Given the description of an element on the screen output the (x, y) to click on. 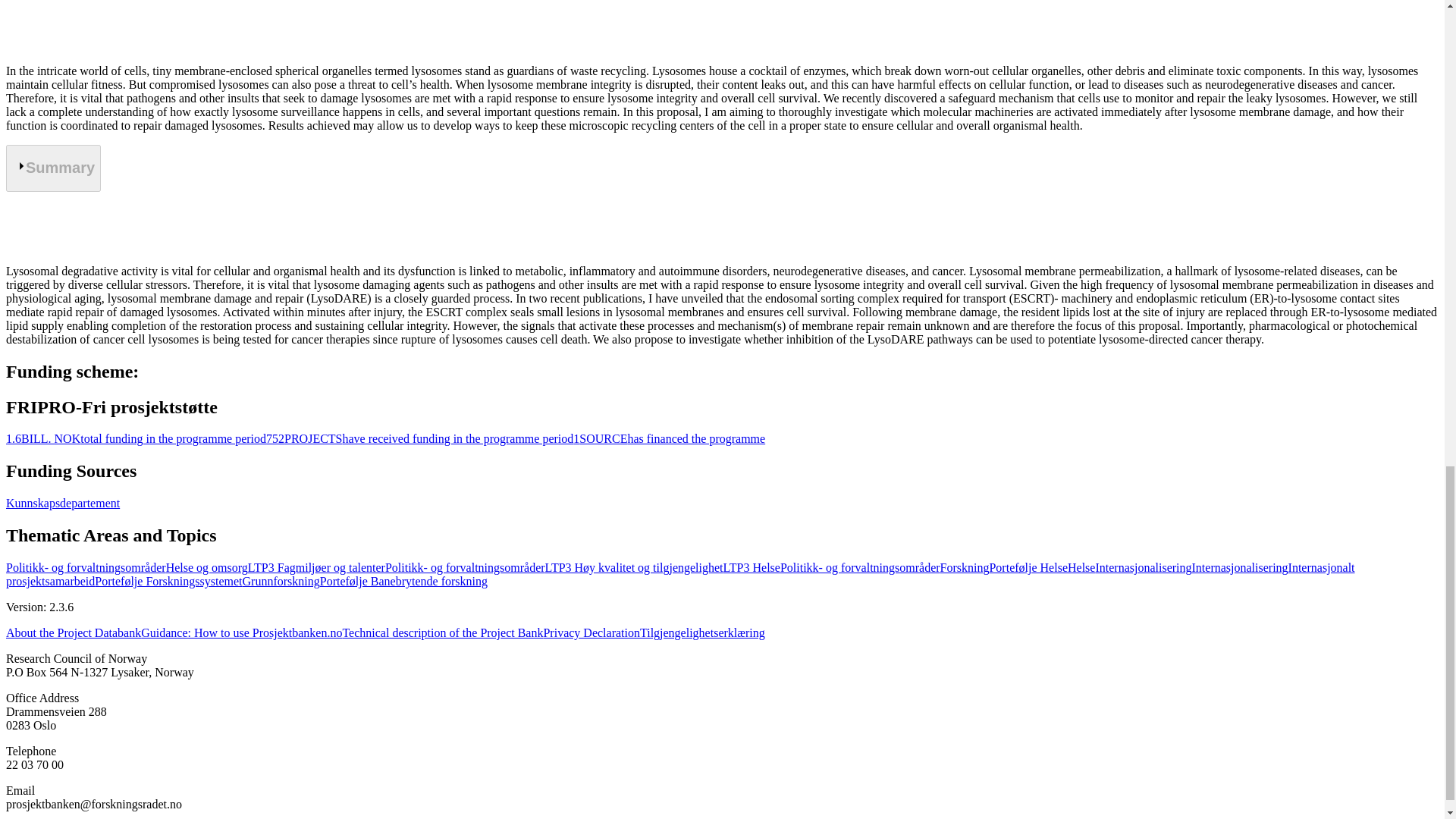
Internasjonalisering (1142, 567)
Kunnskapsdepartement (62, 502)
752PROJECTShave received funding in the programme period (419, 438)
1.6BILL. NOKtotal funding in the programme period (135, 438)
1SOURCEhas financed the programme (669, 438)
Forskning (965, 567)
Summary (52, 167)
LTP3 Helse (751, 567)
Helse (1080, 567)
Internasjonalisering (1240, 567)
Helse og omsorg (206, 567)
